Given the description of an element on the screen output the (x, y) to click on. 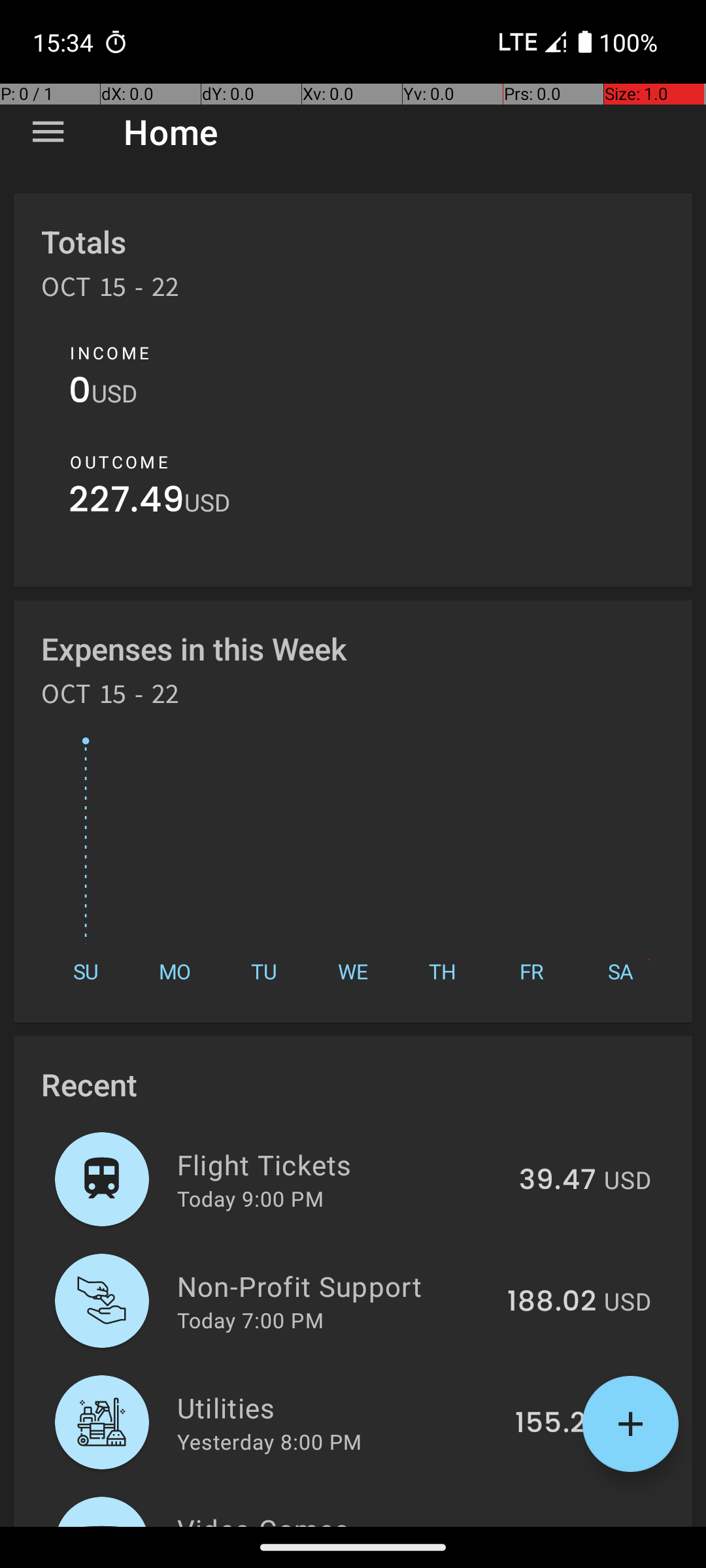
227.49 Element type: android.widget.TextView (126, 502)
Flight Tickets Element type: android.widget.TextView (340, 1164)
39.47 Element type: android.widget.TextView (557, 1180)
Non-Profit Support Element type: android.widget.TextView (334, 1285)
188.02 Element type: android.widget.TextView (551, 1301)
Utilities Element type: android.widget.TextView (338, 1407)
Yesterday 8:00 PM Element type: android.widget.TextView (269, 1441)
155.21 Element type: android.widget.TextView (555, 1423)
Video Games Element type: android.widget.TextView (332, 1518)
244.27 Element type: android.widget.TextView (549, 1524)
